Given the description of an element on the screen output the (x, y) to click on. 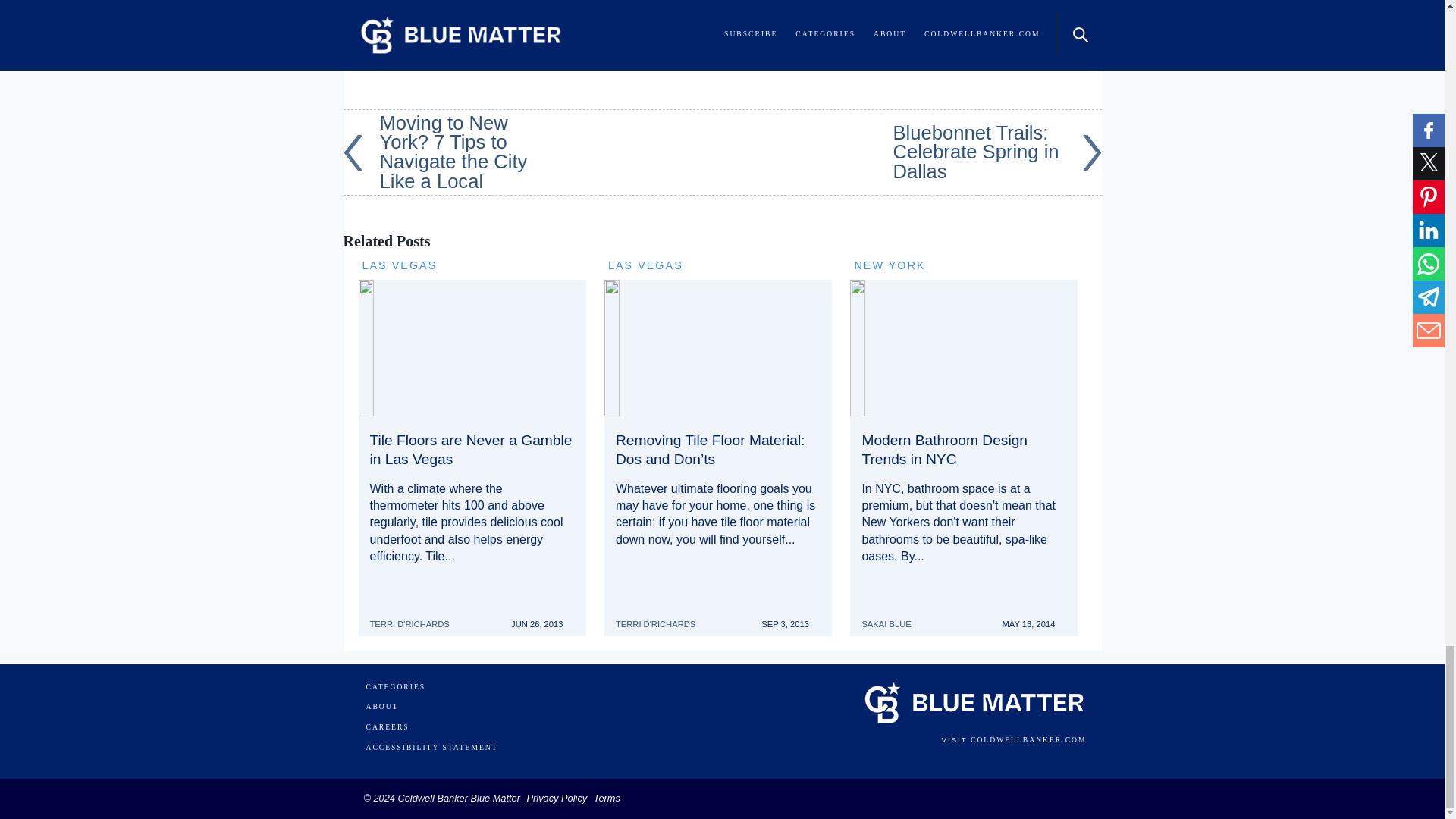
Moving to New York? 7 Tips to Navigate the City Like a Local (446, 151)
Moving to New York? 7 Tips to Navigate the City Like a Local (446, 151)
Tile Floors are Never a Gamble in Las Vegas (470, 449)
LAS VEGAS (400, 265)
Posts by Terri D'Richards (660, 616)
LAS VEGAS (645, 265)
Posts by Sakai Blue (891, 616)
Submit Comment (425, 48)
Bluebonnet Trails: Celebrate Spring in Dallas (997, 152)
TERRI D'RICHARDS (415, 616)
Bluebonnet Trails: Celebrate Spring in Dallas (997, 152)
Posts by Terri D'Richards (415, 616)
Submit Comment (425, 48)
